Given the description of an element on the screen output the (x, y) to click on. 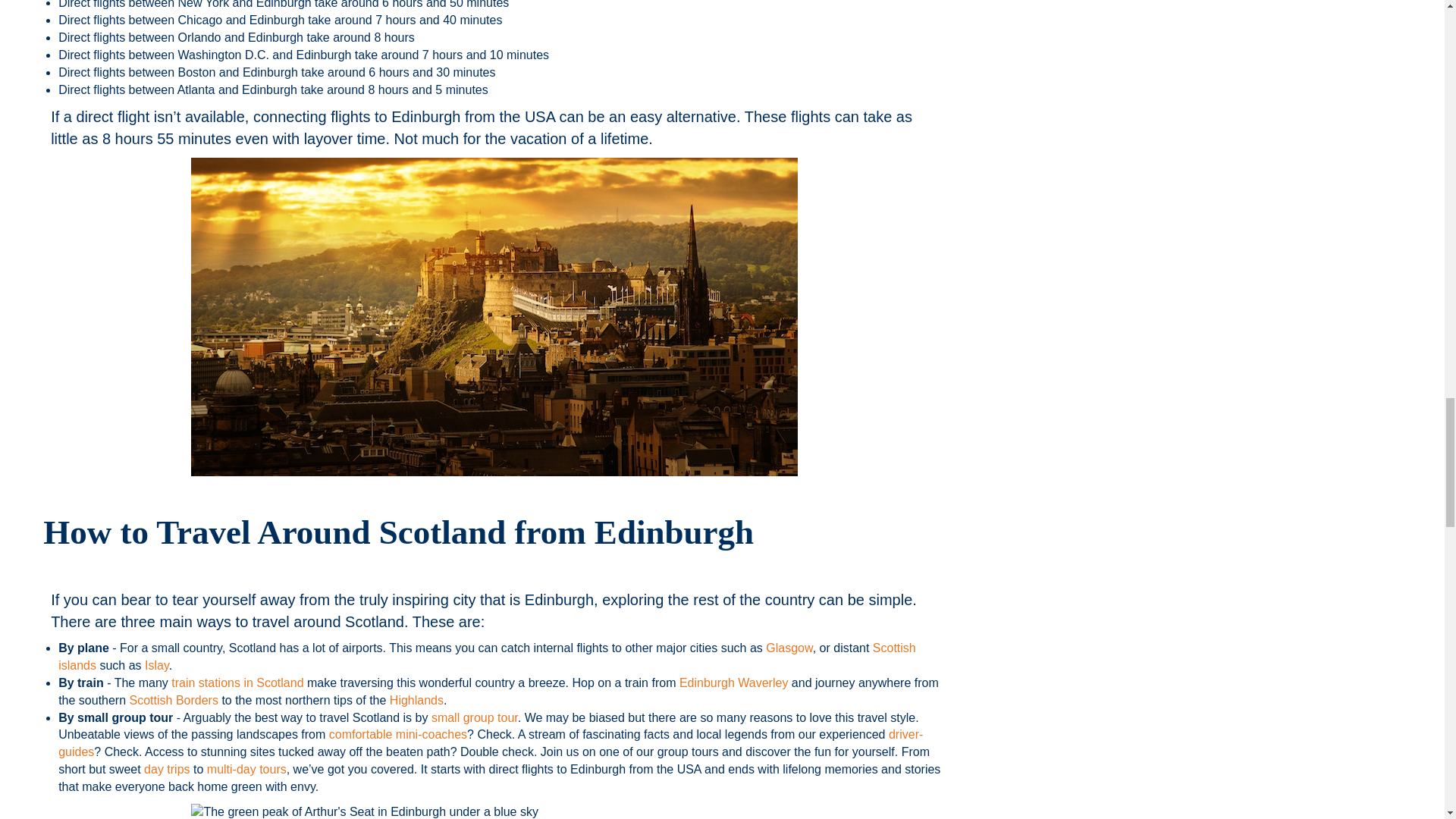
Islay (156, 665)
Scottish islands (486, 656)
day trips (166, 768)
Glasgow (788, 647)
driver-guides (490, 743)
multi-day tours (246, 768)
small group tour (474, 717)
arthurs-peak-edinburgh (493, 811)
Scottish Borders (173, 699)
Highlands (417, 699)
